Given the description of an element on the screen output the (x, y) to click on. 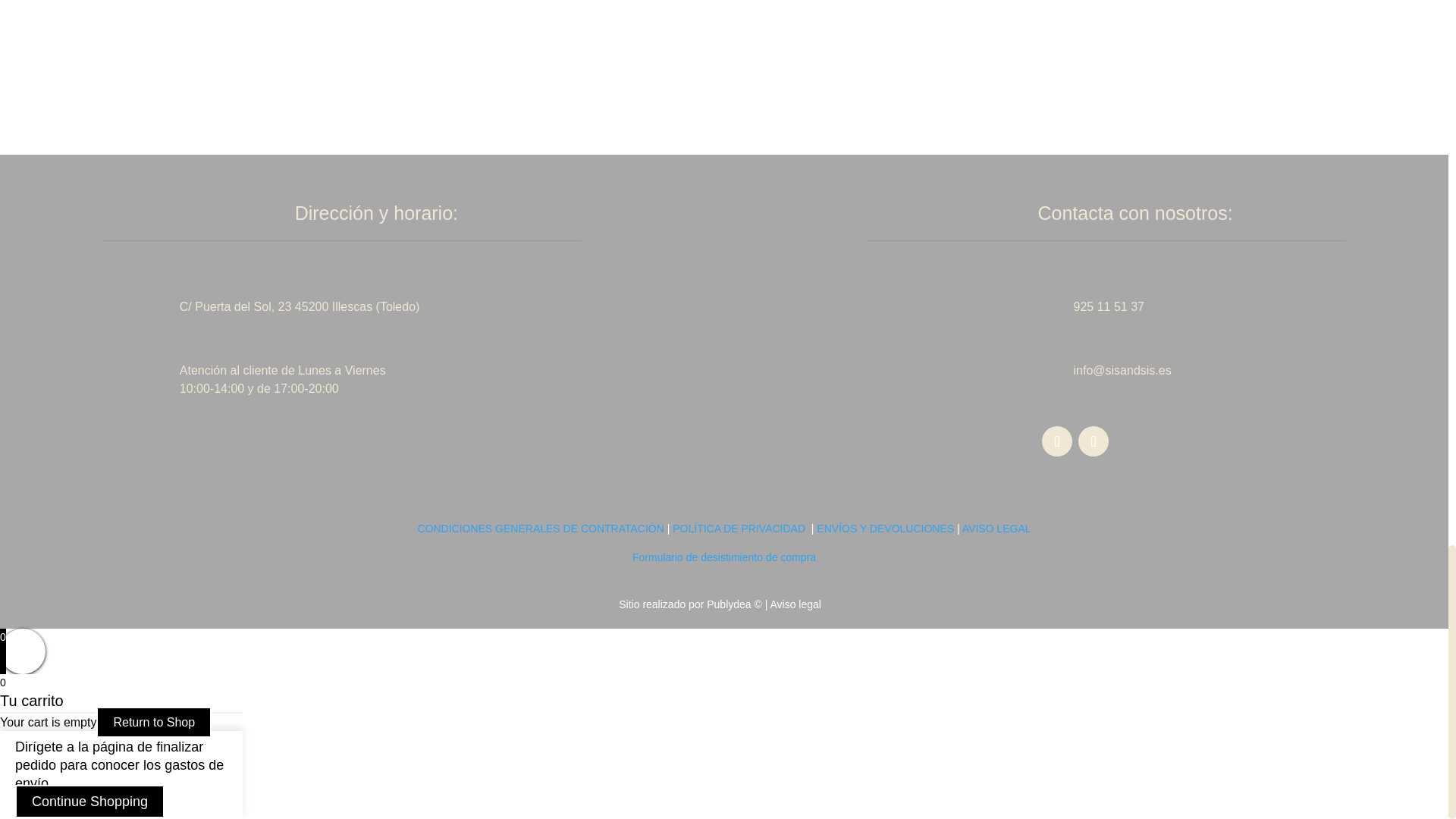
Seguir en Instagram (1093, 440)
Seguir en Facebook (1056, 440)
